Given the description of an element on the screen output the (x, y) to click on. 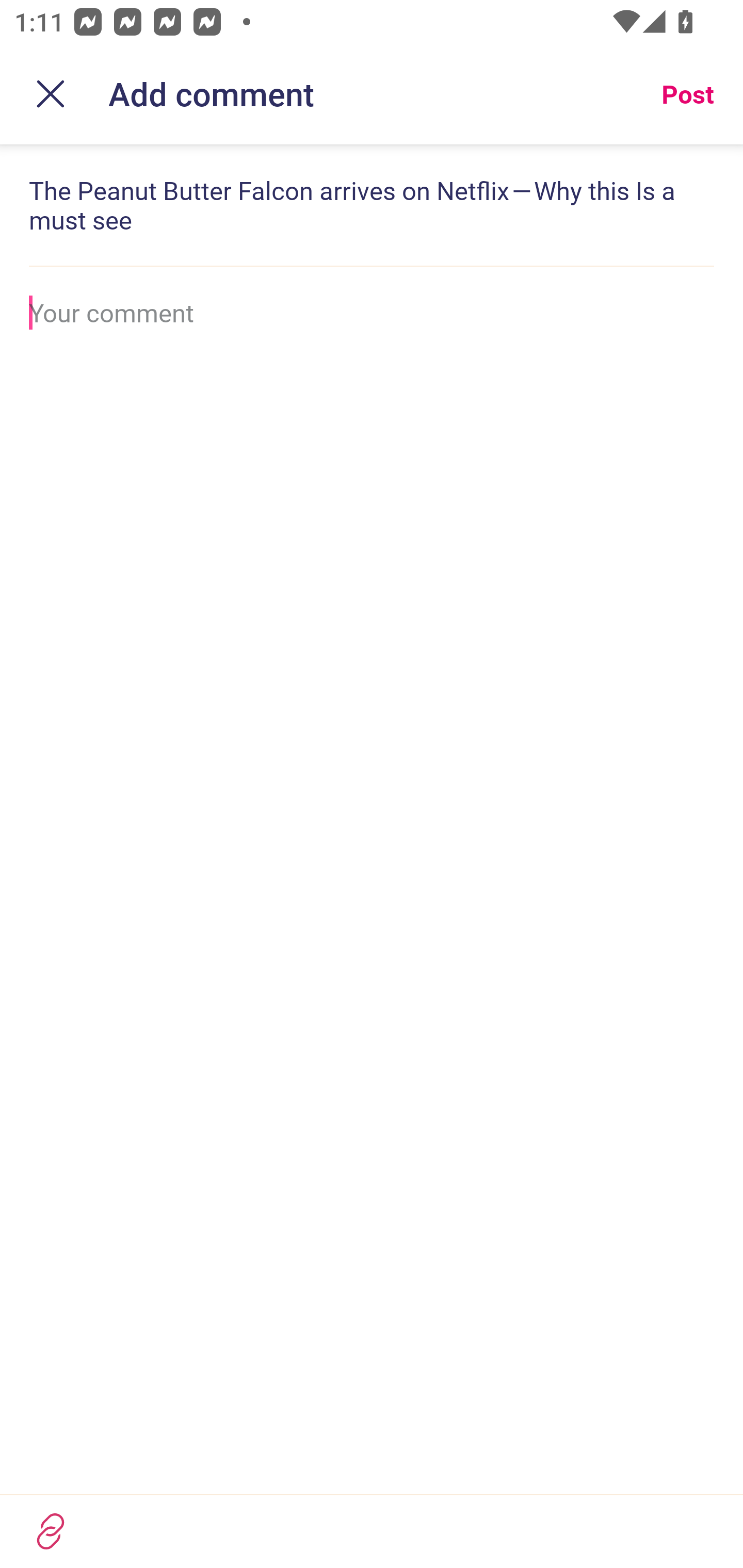
Close (50, 93)
Post (687, 94)
Your comment (371, 312)
Insert a link (371, 1531)
Insert a link (50, 1530)
